Given the description of an element on the screen output the (x, y) to click on. 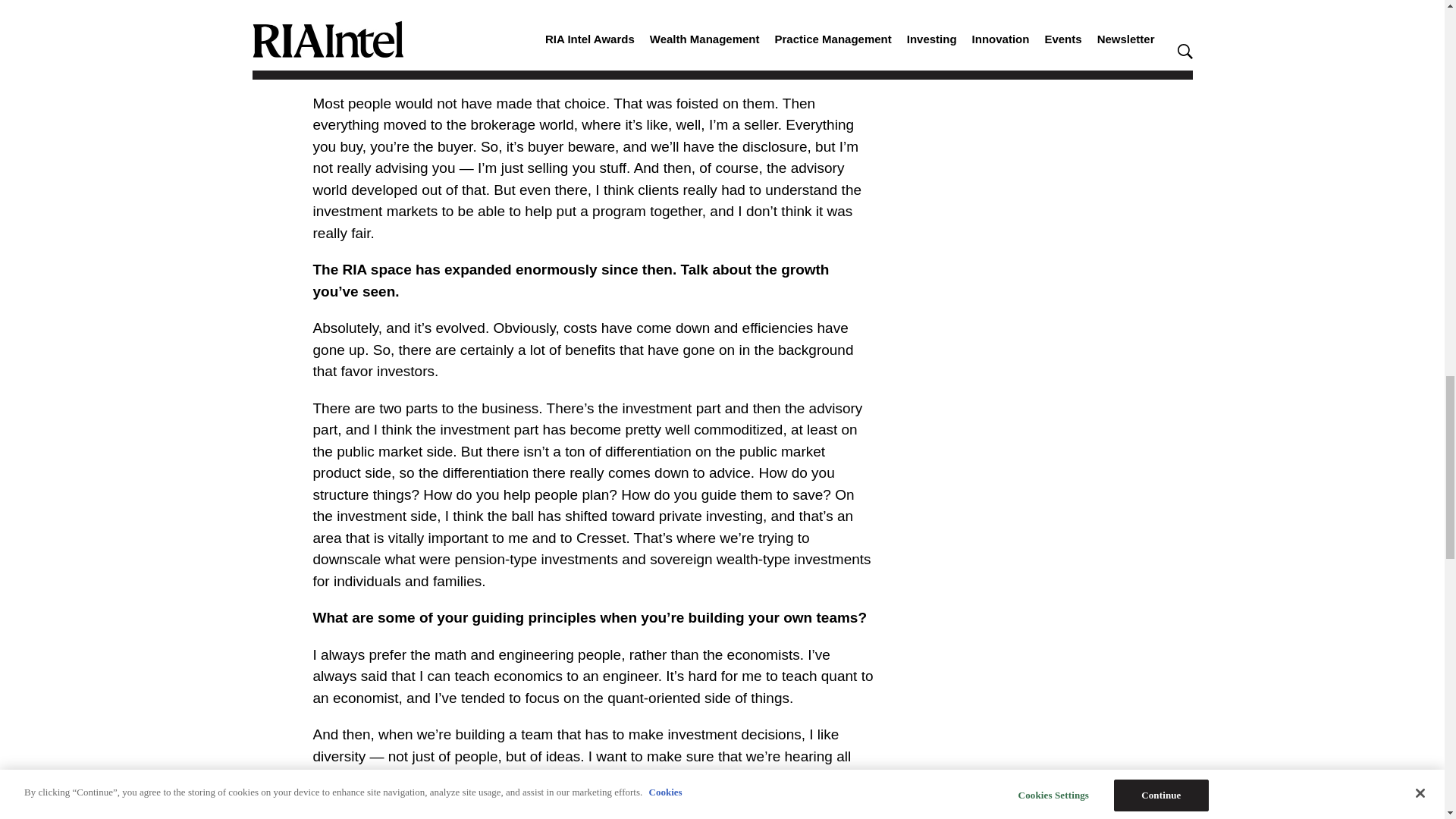
Subscribe (455, 66)
